Given the description of an element on the screen output the (x, y) to click on. 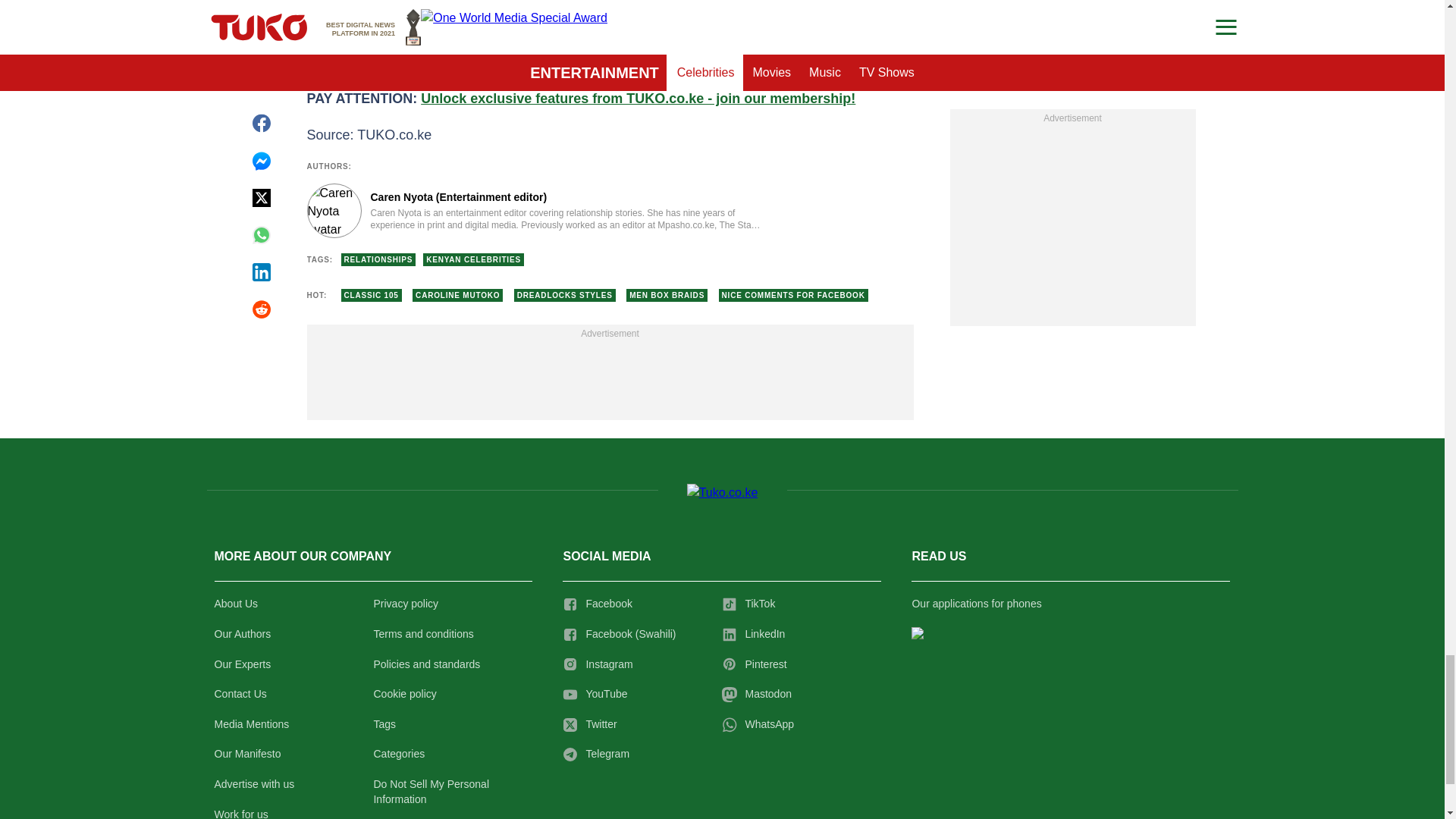
Author page (533, 210)
